Given the description of an element on the screen output the (x, y) to click on. 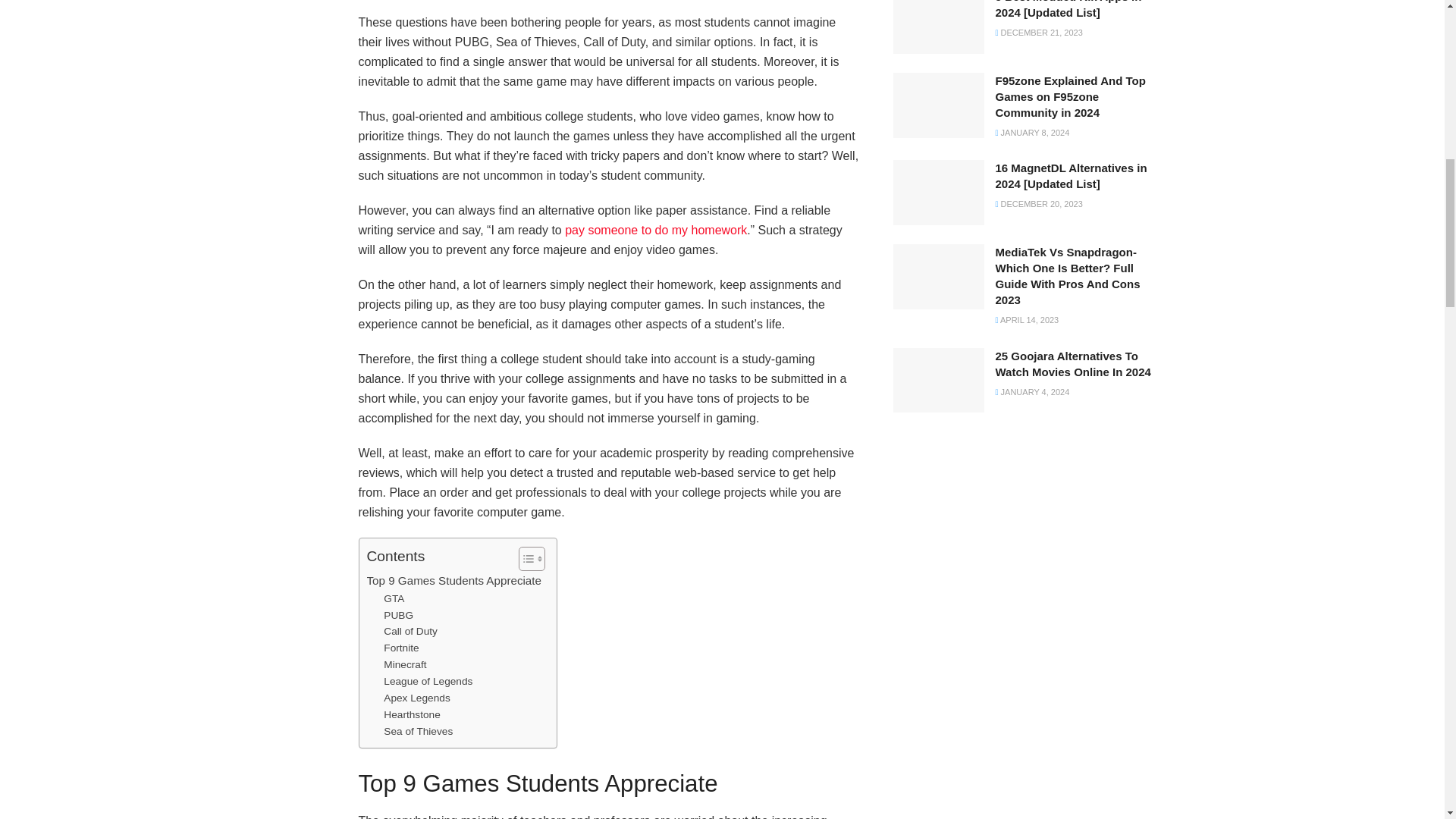
PUBG (398, 615)
Fortnite (401, 647)
Apex Legends (416, 698)
Top 9 Games Students Appreciate (453, 580)
League of Legends (427, 681)
Hearthstone (411, 714)
Call of Duty (411, 631)
Minecraft (405, 664)
Sea of Thieves (418, 731)
GTA (394, 598)
